Given the description of an element on the screen output the (x, y) to click on. 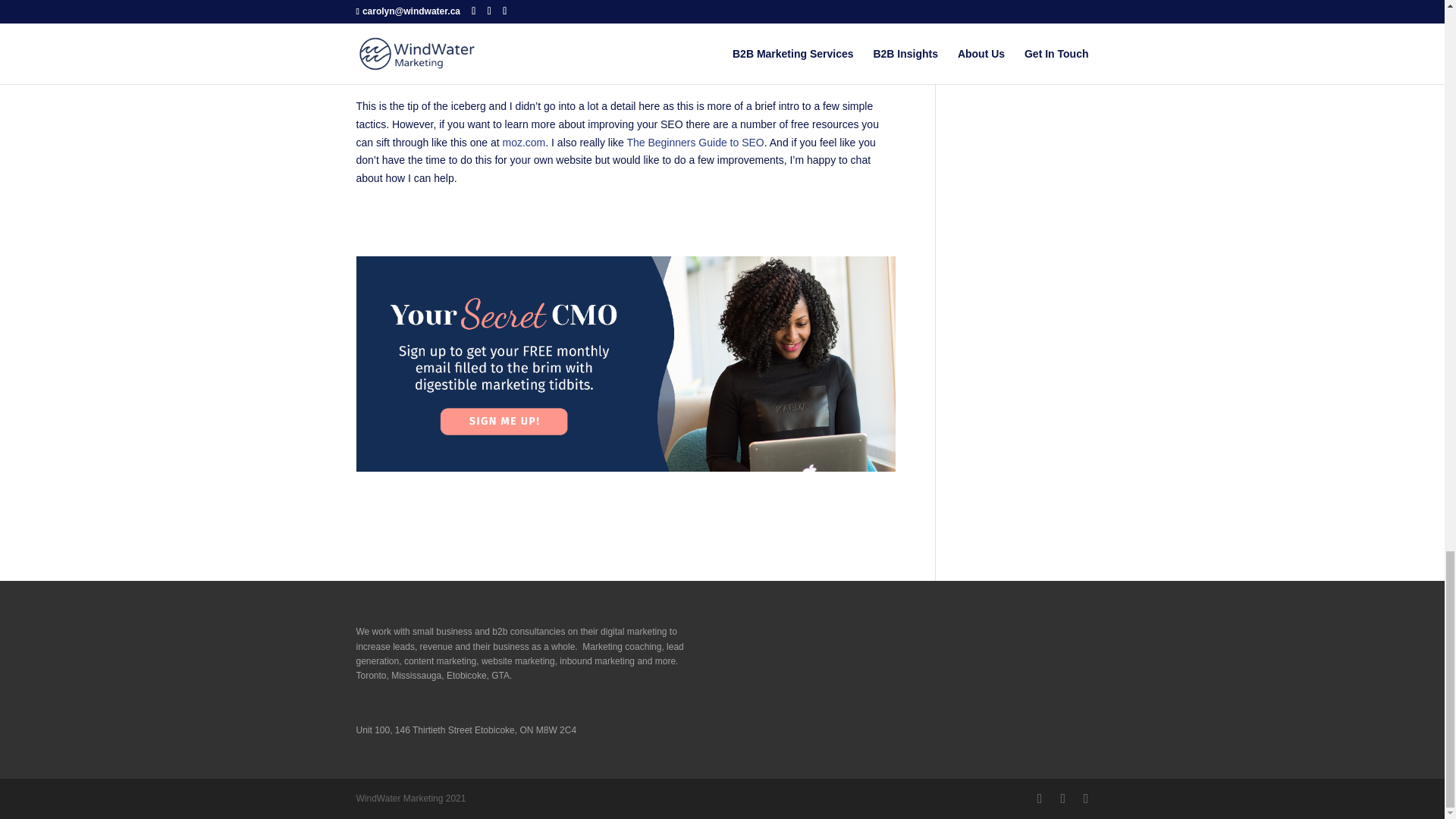
moz.com (523, 142)
The Beginners Guide to SEO (694, 142)
Windwater-Marketing-Blog-Post-Optin (625, 363)
